Given the description of an element on the screen output the (x, y) to click on. 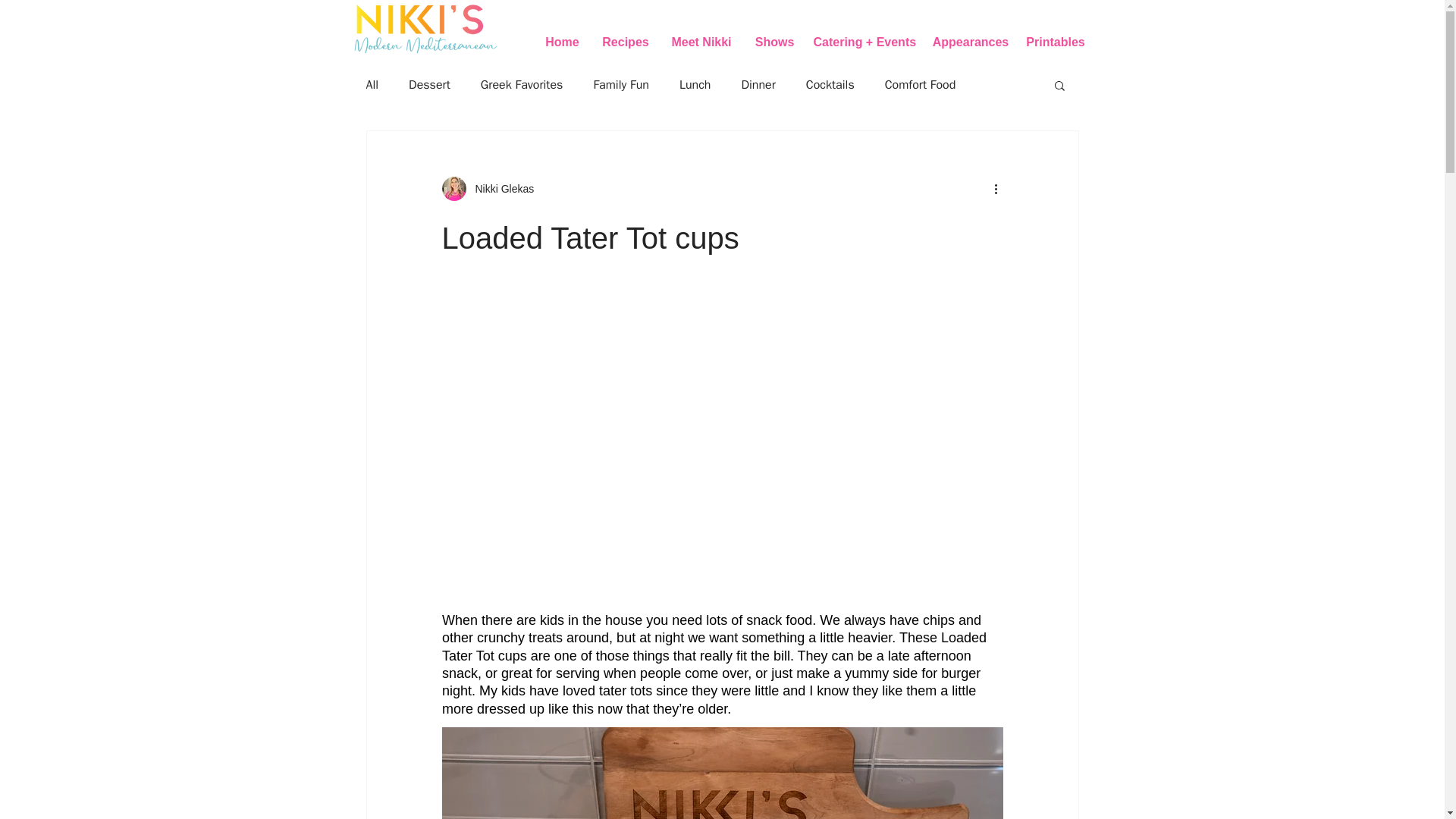
Meet Nikki (701, 41)
Family Fun (620, 84)
Appearances (970, 41)
Dessert (429, 84)
Nikki Glekas (499, 188)
Lunch (695, 84)
Greek Favorites (521, 84)
Shows (773, 41)
Recipes (625, 41)
Comfort Food (920, 84)
